Given the description of an element on the screen output the (x, y) to click on. 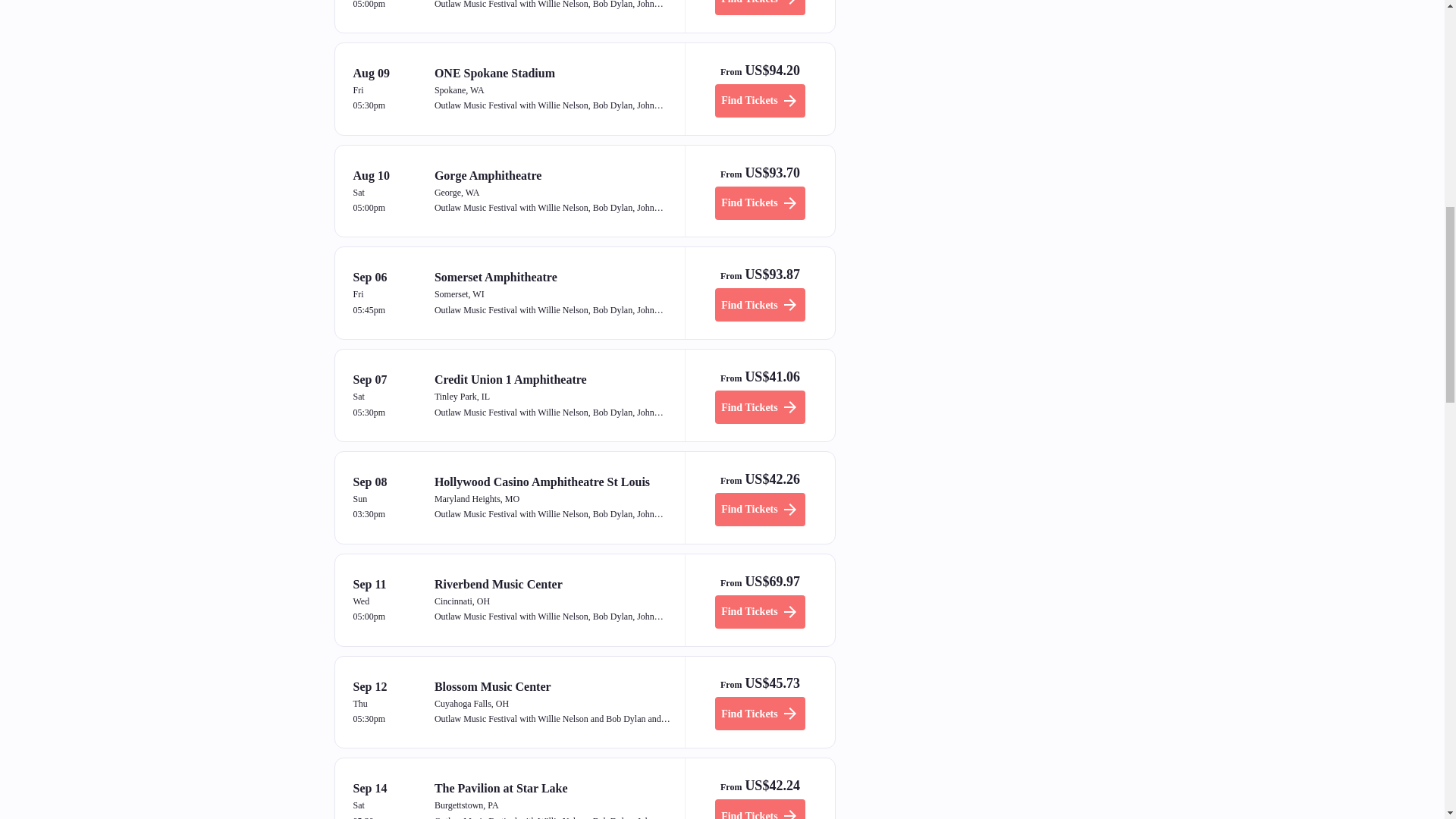
Find Tickets (759, 713)
Find Tickets (759, 100)
Find Tickets (759, 7)
Find Tickets (759, 304)
Find Tickets (759, 407)
Find Tickets (759, 611)
Find Tickets (759, 203)
Find Tickets (759, 509)
Find Tickets (759, 809)
